Given the description of an element on the screen output the (x, y) to click on. 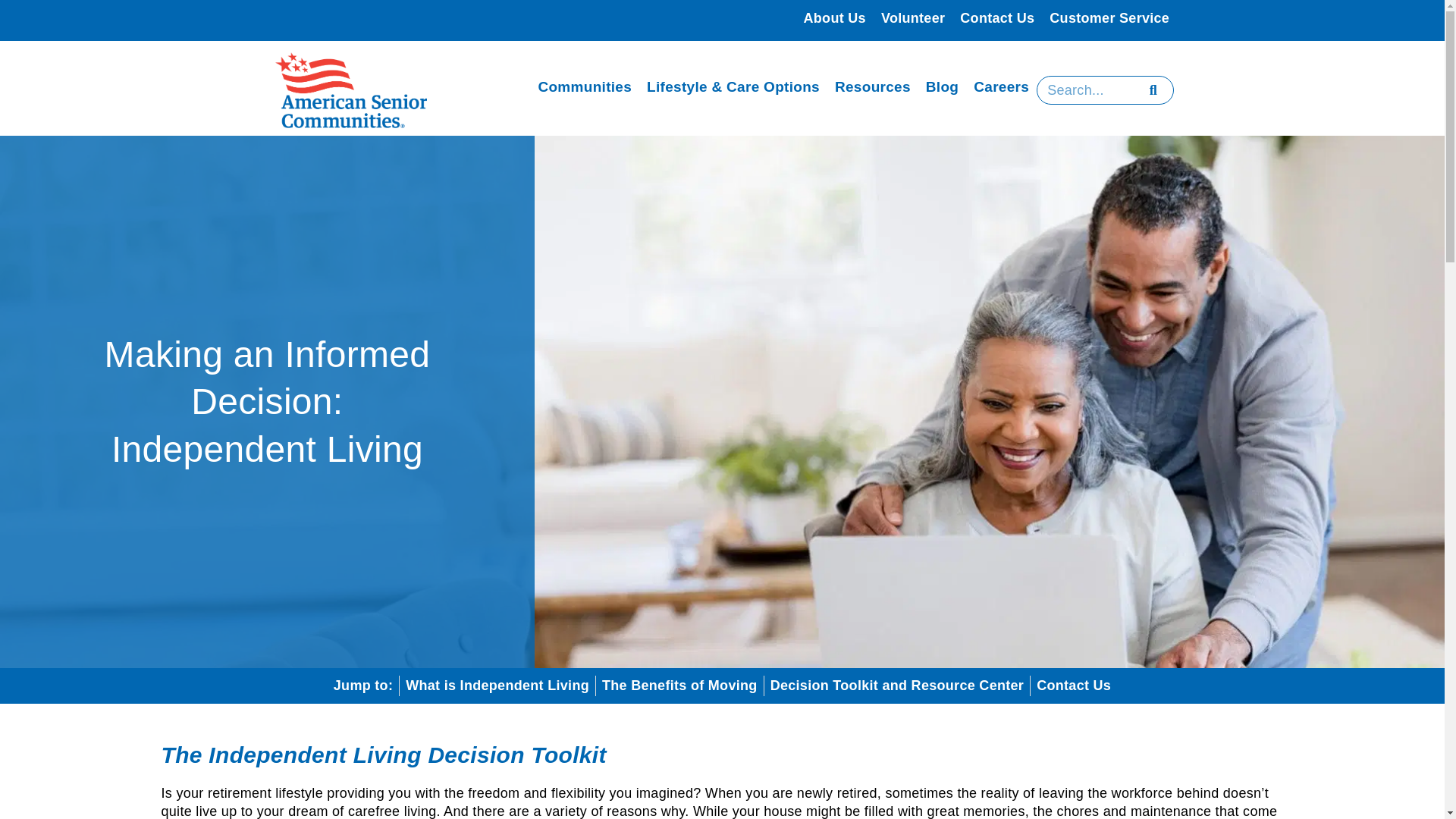
Contact Us (997, 18)
About Us (834, 18)
Customer Service (1109, 18)
Communities (584, 87)
Volunteer (912, 18)
